Given the description of an element on the screen output the (x, y) to click on. 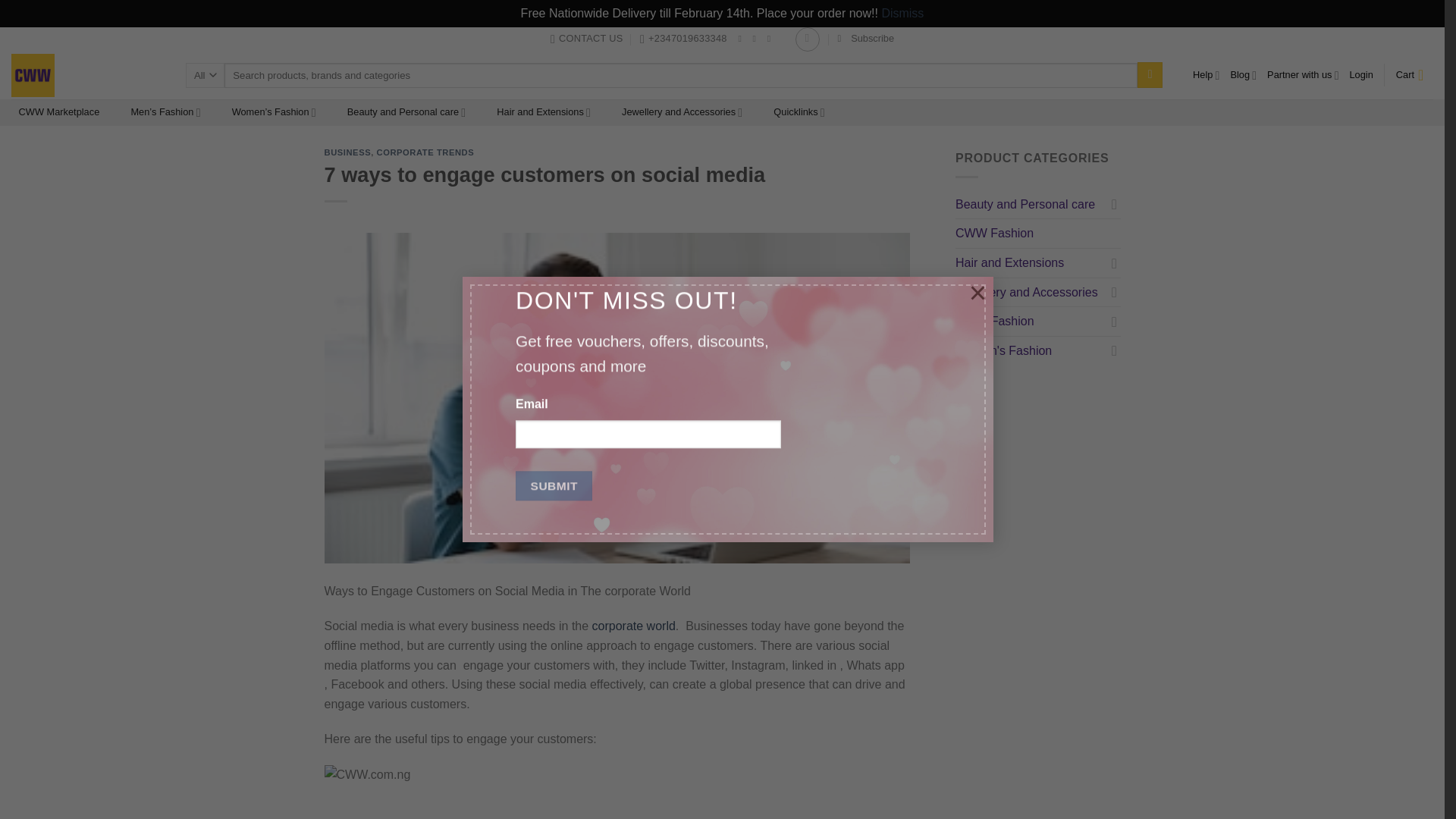
Search (1149, 74)
Cart (1414, 74)
Partner with us (1302, 75)
CWW Marketplace (58, 111)
Blog (1243, 75)
Help (1206, 75)
Submit (553, 486)
Login (1361, 74)
Dismiss (901, 12)
CWW.com.ng (504, 791)
CONTACT US (586, 38)
Submit (553, 486)
Subscribe (865, 38)
